Given the description of an element on the screen output the (x, y) to click on. 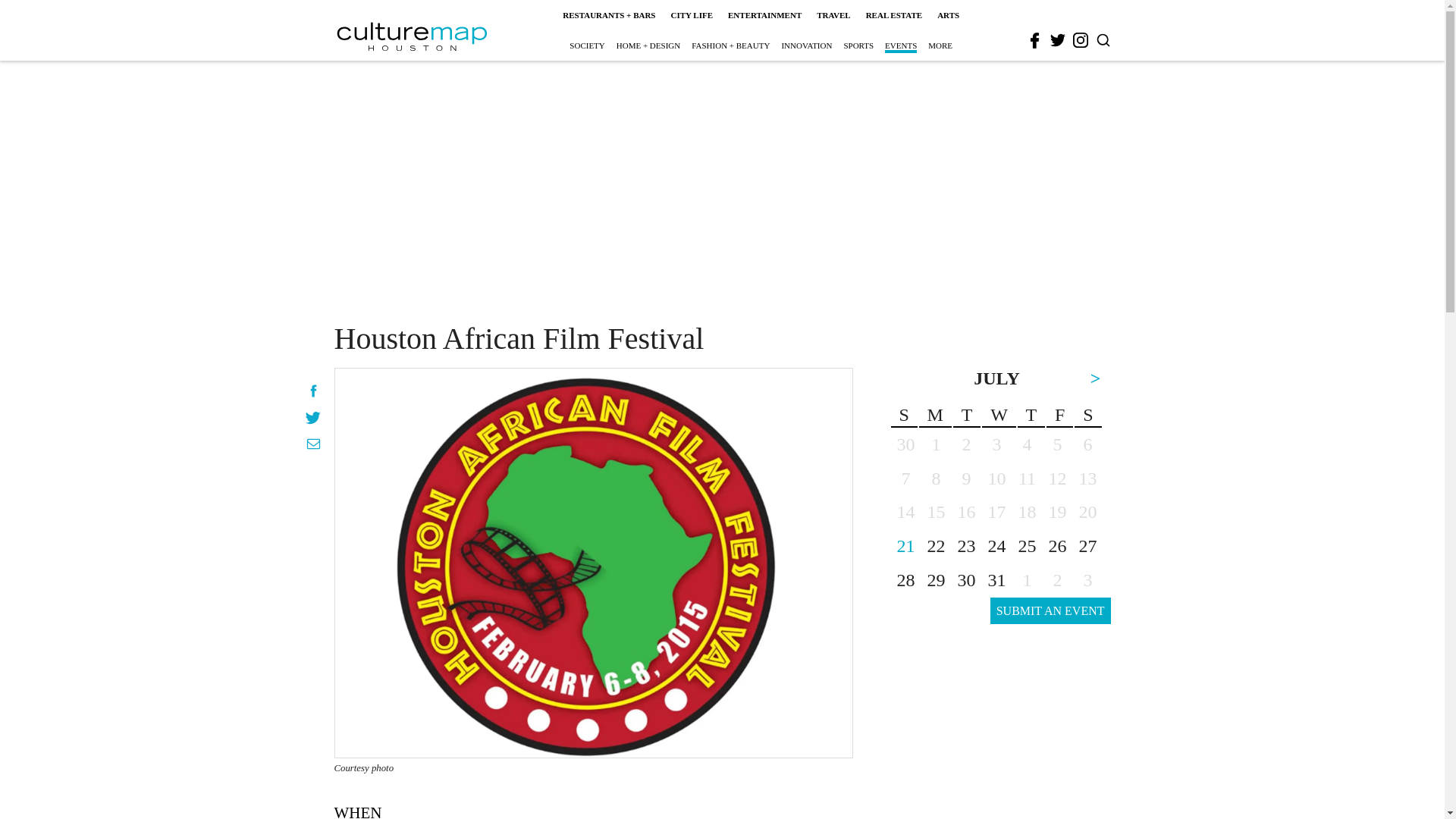
3rd party ad content (721, 202)
3rd party ad content (995, 748)
